Given the description of an element on the screen output the (x, y) to click on. 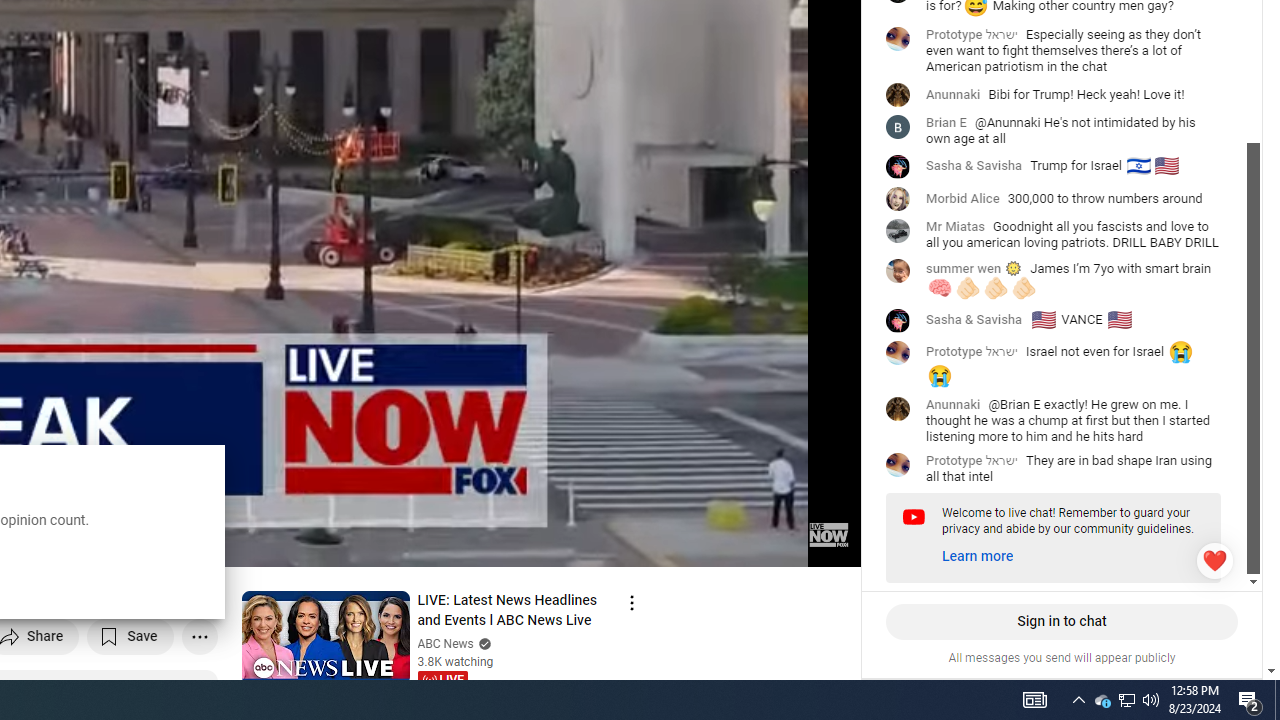
LIVE (442, 680)
Save to playlist (130, 636)
Sign in to chat (1061, 622)
Verified (482, 642)
More actions (198, 636)
Subtitles/closed captions unavailable (632, 543)
Theater mode keyboard shortcut t (776, 543)
